Given the description of an element on the screen output the (x, y) to click on. 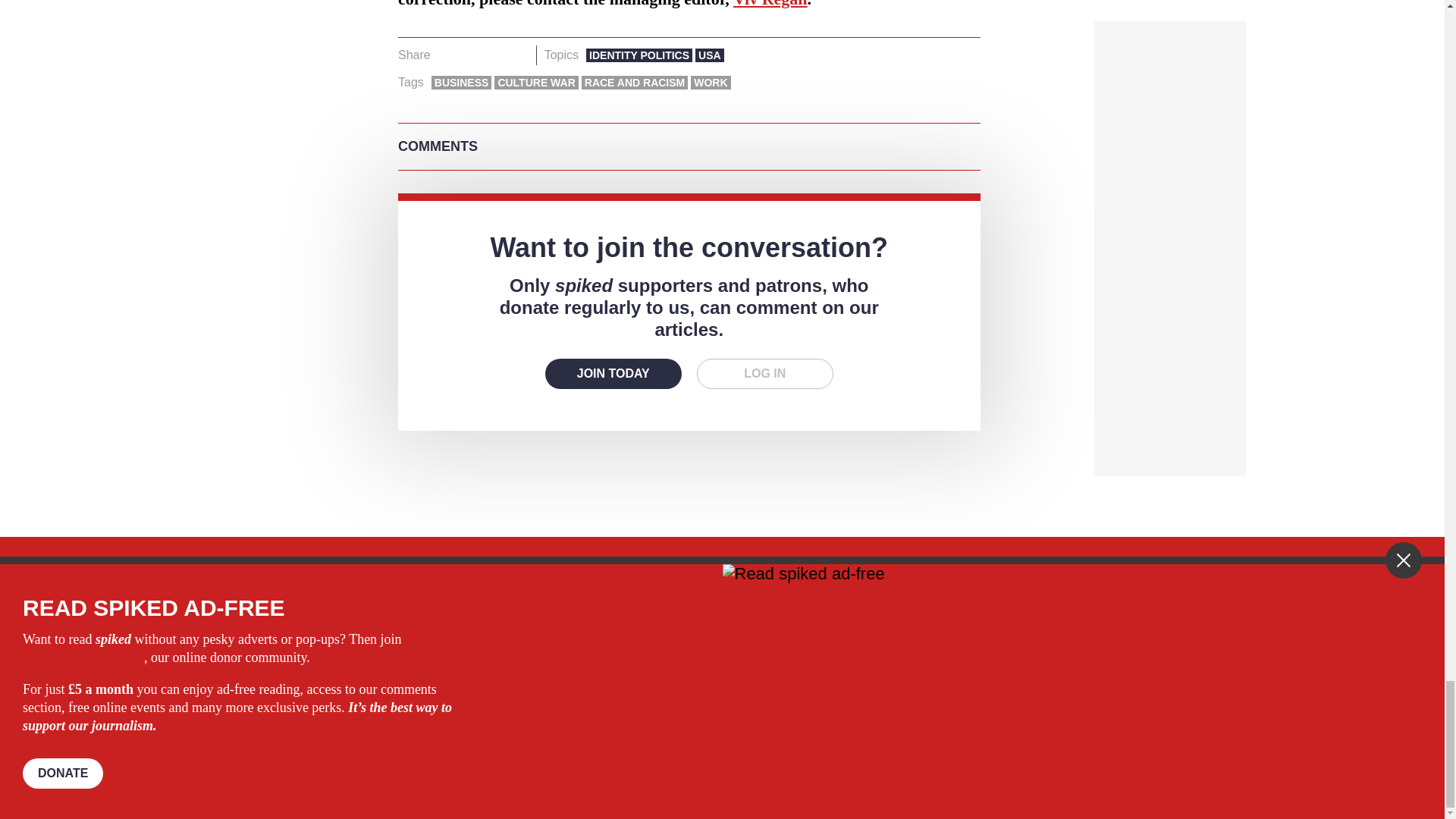
Share on Whatsapp (494, 55)
Share on Email (518, 55)
Share on Twitter (471, 55)
Share on Facebook (448, 55)
